Given the description of an element on the screen output the (x, y) to click on. 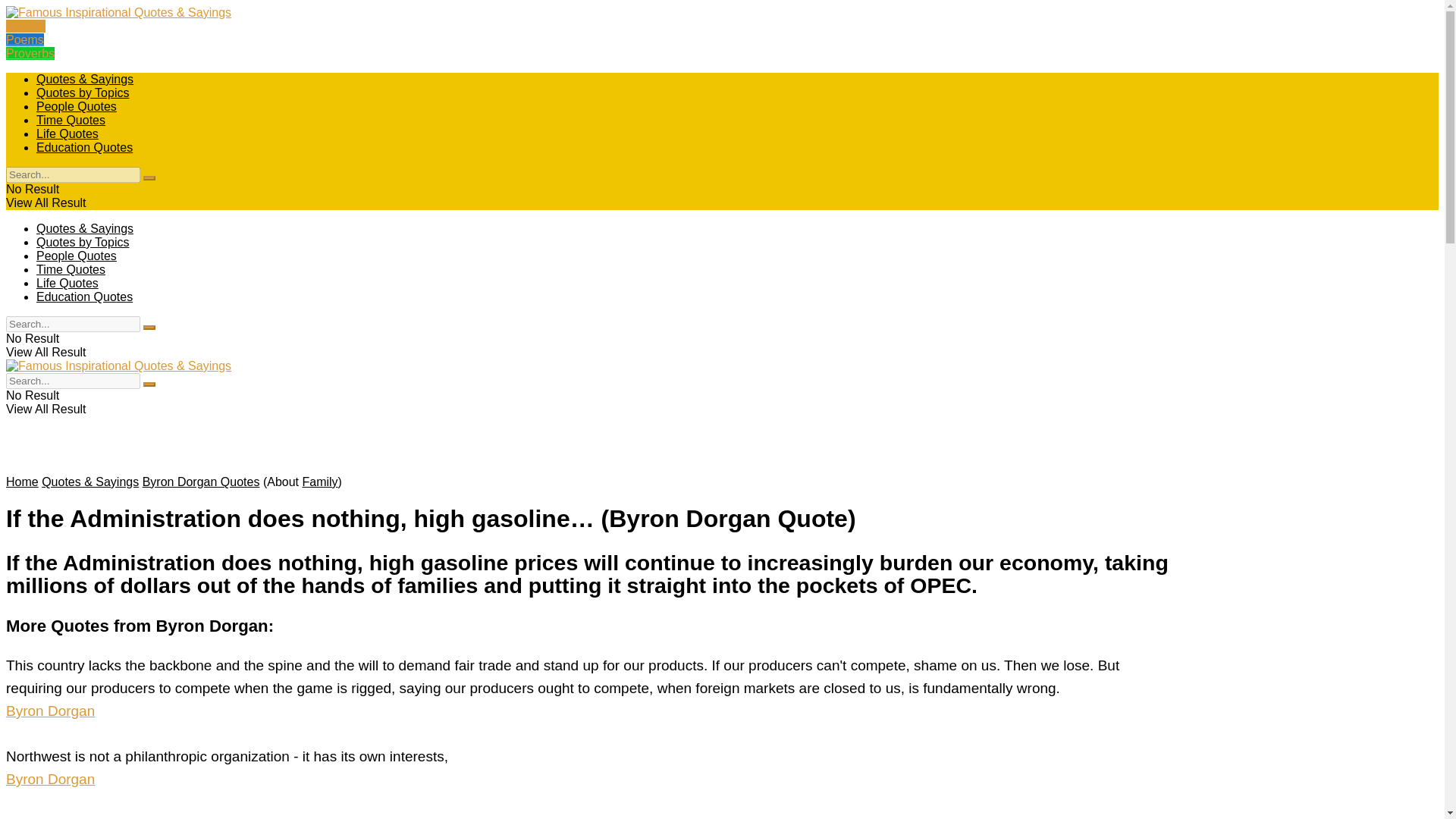
Proverbs (30, 52)
Family (319, 481)
Quotes by Topics (82, 92)
Education Quotes (84, 146)
Quotes by Topics (82, 241)
People Quotes (76, 106)
Education Quotes (84, 296)
Byron Dorgan (49, 779)
Time Quotes (70, 119)
Home (22, 481)
Byron Dorgan (49, 710)
People Quotes (76, 255)
Byron Dorgan Quotes (201, 481)
Poems (24, 39)
Life Quotes (67, 133)
